Given the description of an element on the screen output the (x, y) to click on. 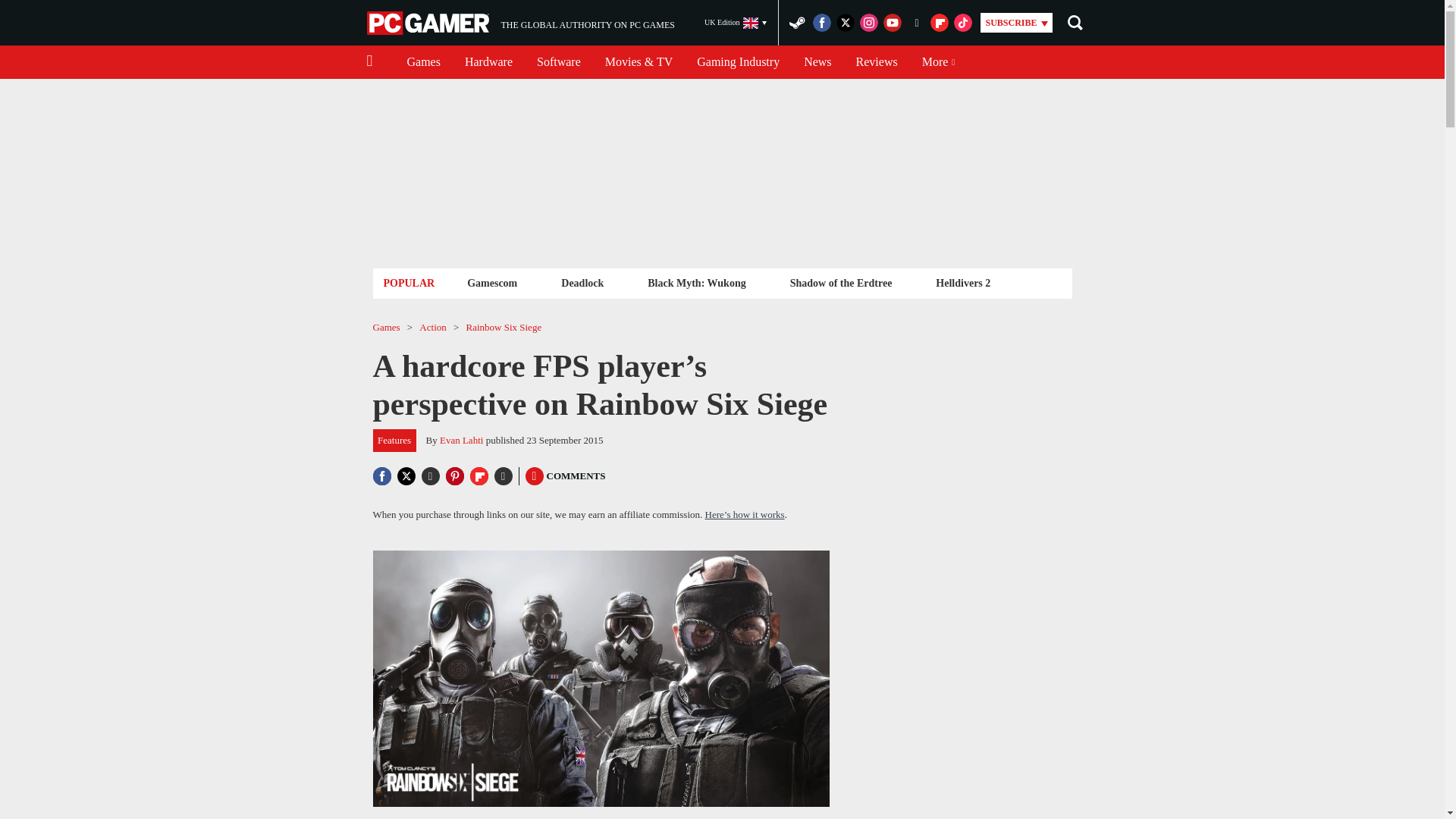
Gaming Industry (738, 61)
Games (422, 61)
Gamescom (491, 282)
Software (558, 61)
UK Edition (735, 22)
Hardware (488, 61)
PC Gamer (429, 22)
Reviews (520, 22)
Deadlock (877, 61)
